Given the description of an element on the screen output the (x, y) to click on. 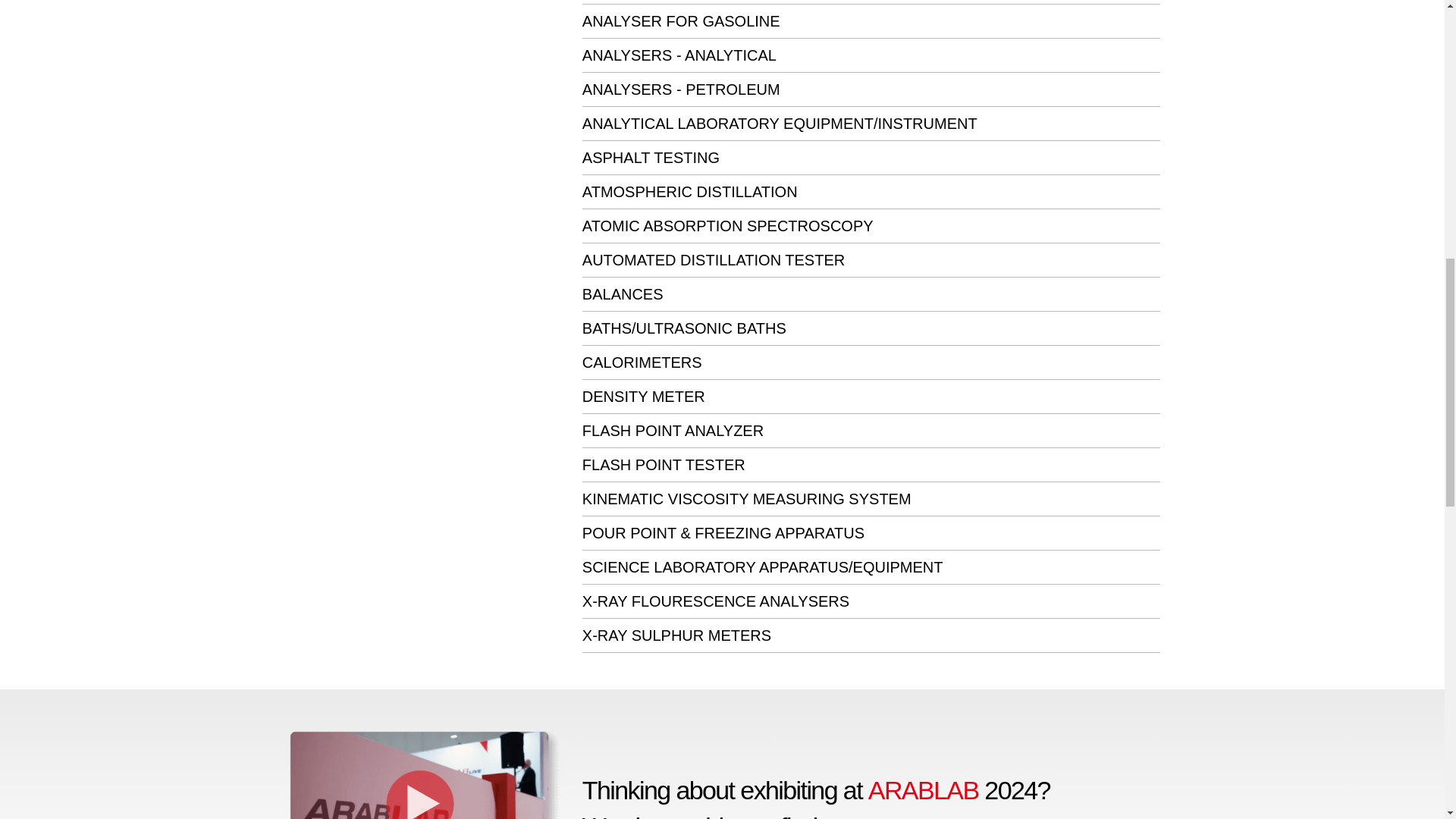
ANALYSER FOR GASOLINE (681, 21)
ASPHALT TESTING (650, 157)
ATMOSPHERIC DISTILLATION (689, 191)
ANALYSERS - ANALYTICAL (679, 54)
ANALYSERS - PETROLEUM (681, 89)
